Given the description of an element on the screen output the (x, y) to click on. 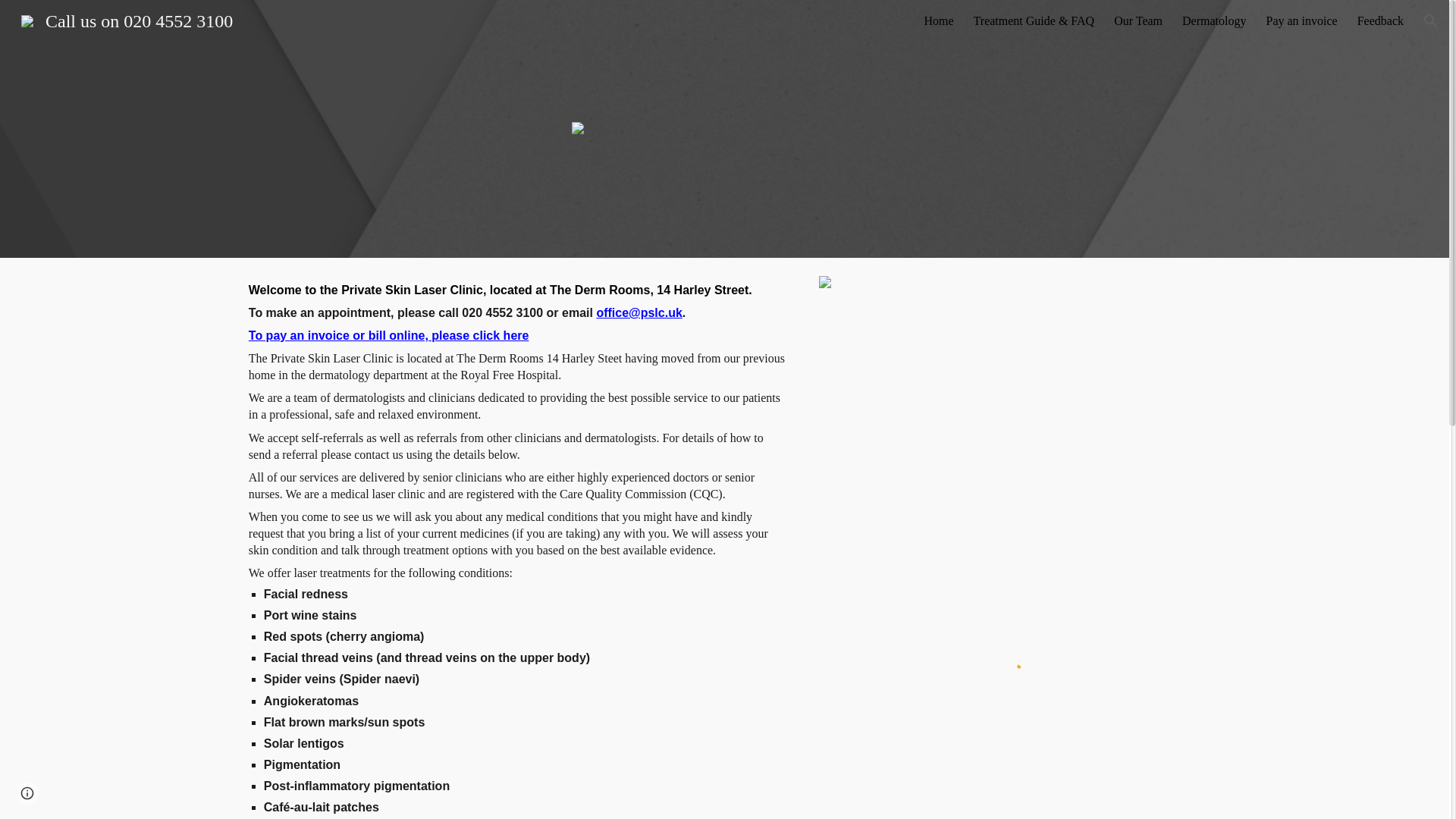
Home (938, 20)
Feedback (1379, 20)
Call us on 020 4552 3100 (126, 19)
Dermatology (1214, 20)
Pay an invoice (1300, 20)
Our Team (1137, 20)
To pay an invoice or bill online, please click here (388, 335)
